Given the description of an element on the screen output the (x, y) to click on. 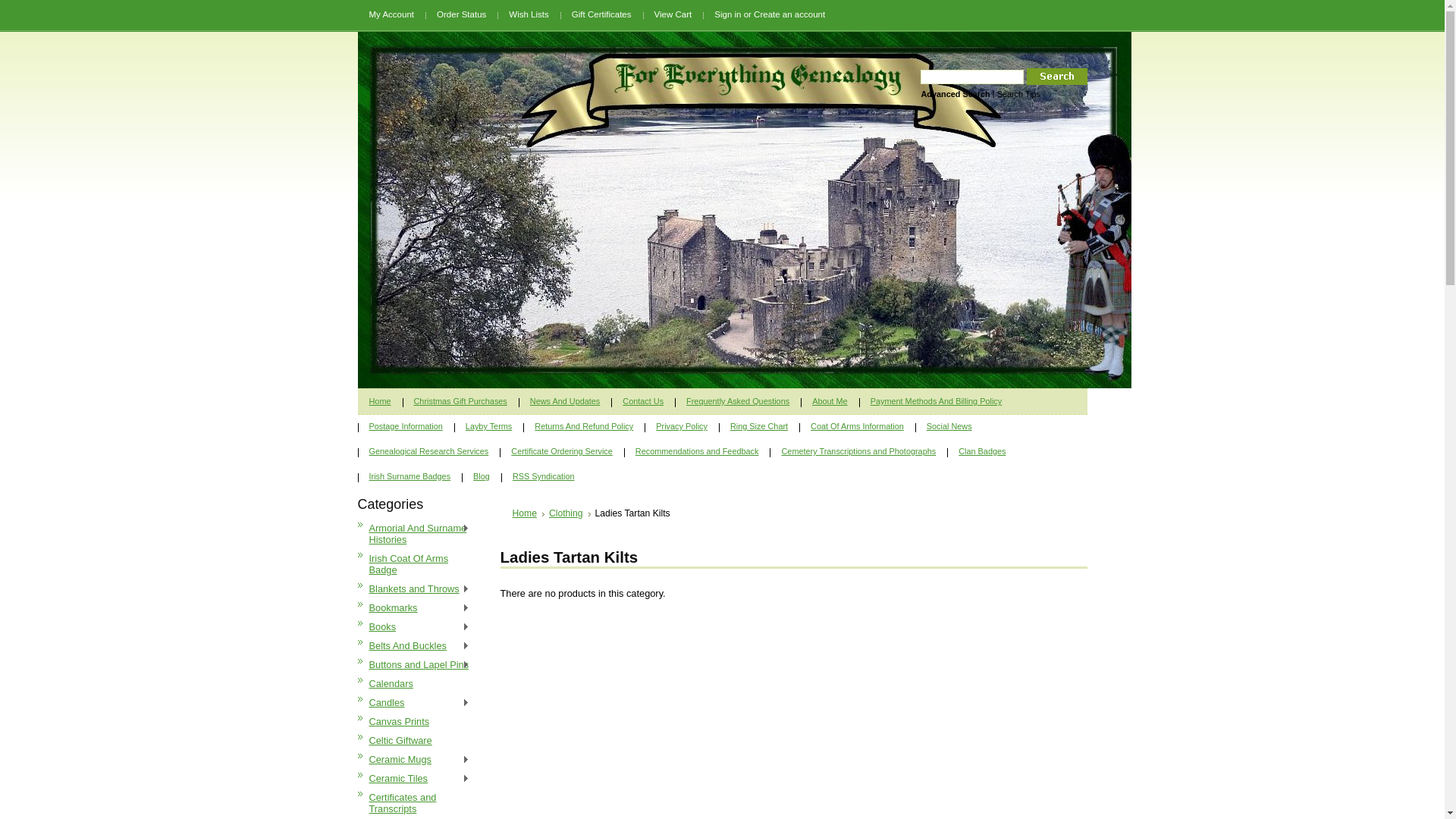
Irish Surname Badges Element type: text (409, 475)
View Cart Element type: text (673, 13)
Clan Badges Element type: text (981, 450)
Social News Element type: text (949, 425)
Celtic Giftware Element type: text (416, 740)
Irish Coat Of Arms Badge Element type: text (416, 564)
Calendars Element type: text (416, 683)
Contact Us Element type: text (642, 400)
Coat Of Arms Information Element type: text (857, 425)
Wish Lists Element type: text (528, 13)
Advanced Search Element type: text (954, 93)
Ring Size Chart Element type: text (758, 425)
Home Element type: text (528, 513)
Home Element type: text (379, 400)
Certificate Ordering Service Element type: text (561, 450)
Sign in Element type: text (727, 13)
Genealogical Research Services Element type: text (428, 450)
Payment Methods And Billing Policy Element type: text (936, 400)
My Account Element type: text (391, 13)
Certificates and Transcripts Element type: text (416, 802)
Layby Terms Element type: text (488, 425)
Returns And Refund Policy Element type: text (583, 425)
Postage Information Element type: text (405, 425)
About Me Element type: text (829, 400)
Search Tips Element type: text (1018, 93)
Frequently Asked Questions Element type: text (737, 400)
Create an account Element type: text (789, 13)
Clothing Element type: text (569, 513)
Canvas Prints Element type: text (416, 721)
Gift Certificates Element type: text (601, 13)
RSS Syndication Element type: text (543, 475)
Privacy Policy Element type: text (681, 425)
Cemetery Transcriptions and Photographs Element type: text (858, 450)
News And Updates Element type: text (564, 400)
Blog Element type: text (481, 475)
Recommendations and Feedback Element type: text (697, 450)
Order Status Element type: text (461, 13)
Christmas Gift Purchases Element type: text (460, 400)
